Given the description of an element on the screen output the (x, y) to click on. 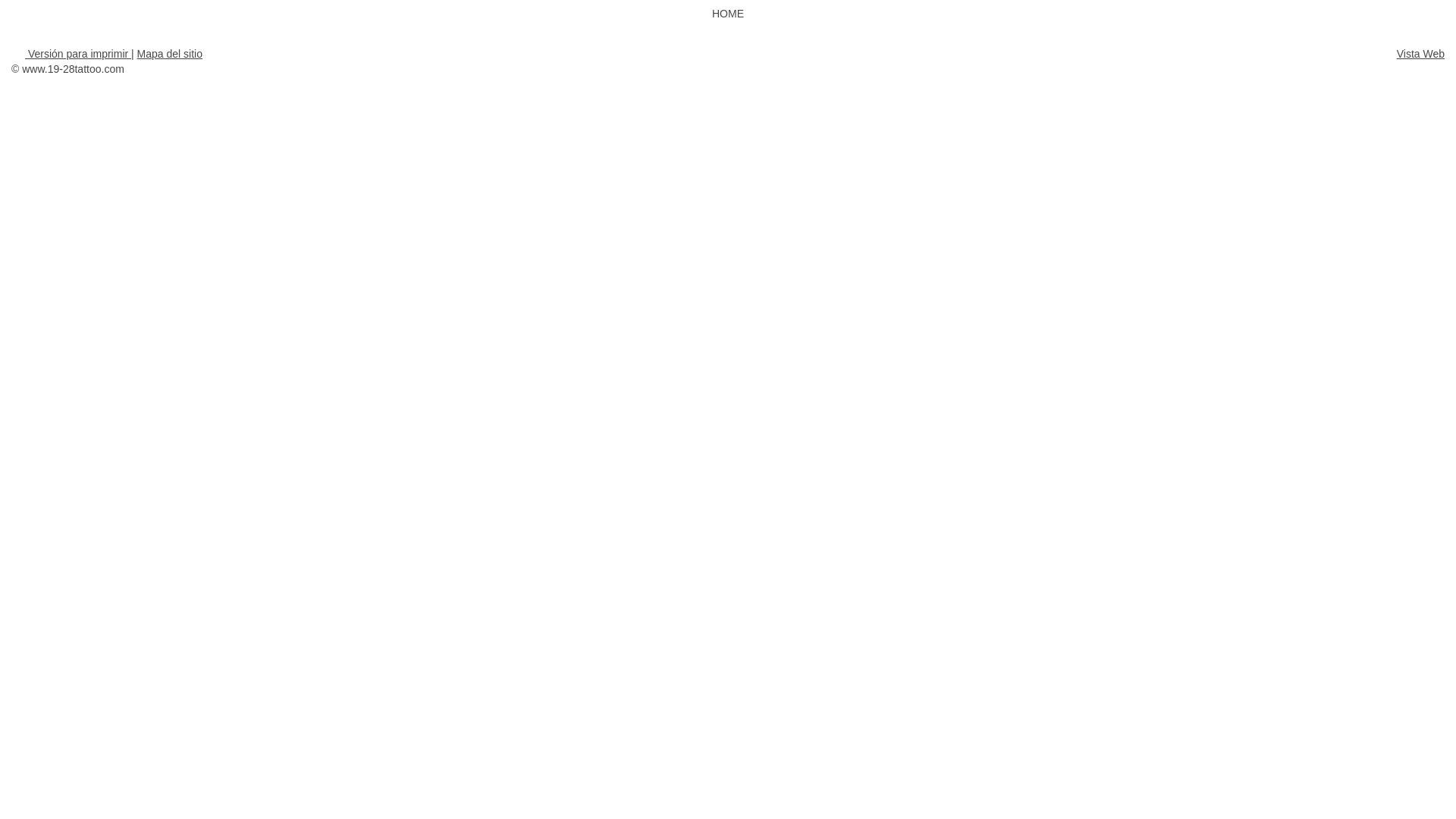
Mapa del sitio Element type: text (169, 53)
HOME Element type: text (727, 13)
Vista Web Element type: text (1420, 53)
